Given the description of an element on the screen output the (x, y) to click on. 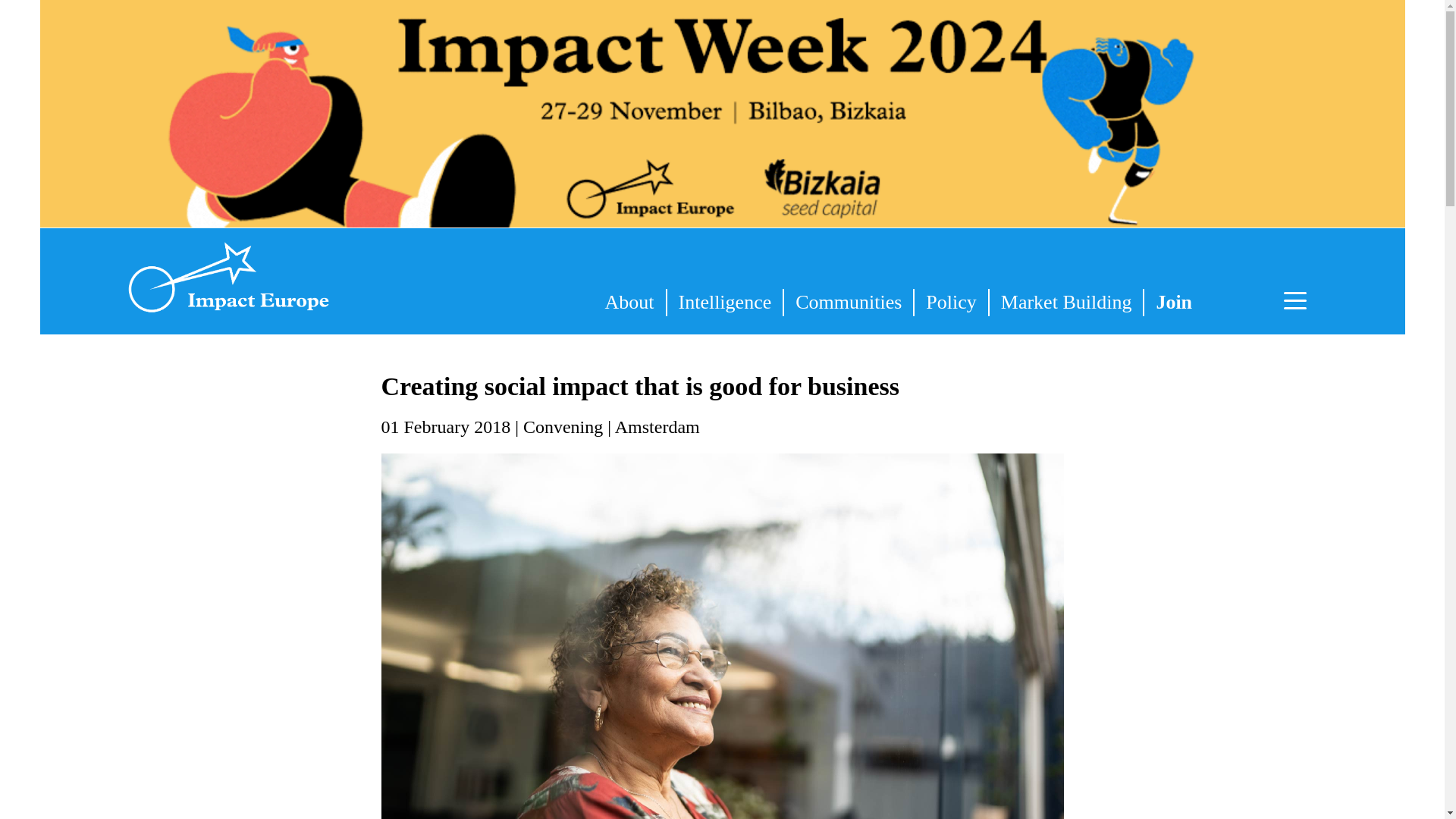
About (628, 302)
Policy (950, 302)
Communities (848, 302)
Market Building (1066, 302)
Join (1174, 302)
Menu (1299, 302)
Intelligence (724, 302)
